Given the description of an element on the screen output the (x, y) to click on. 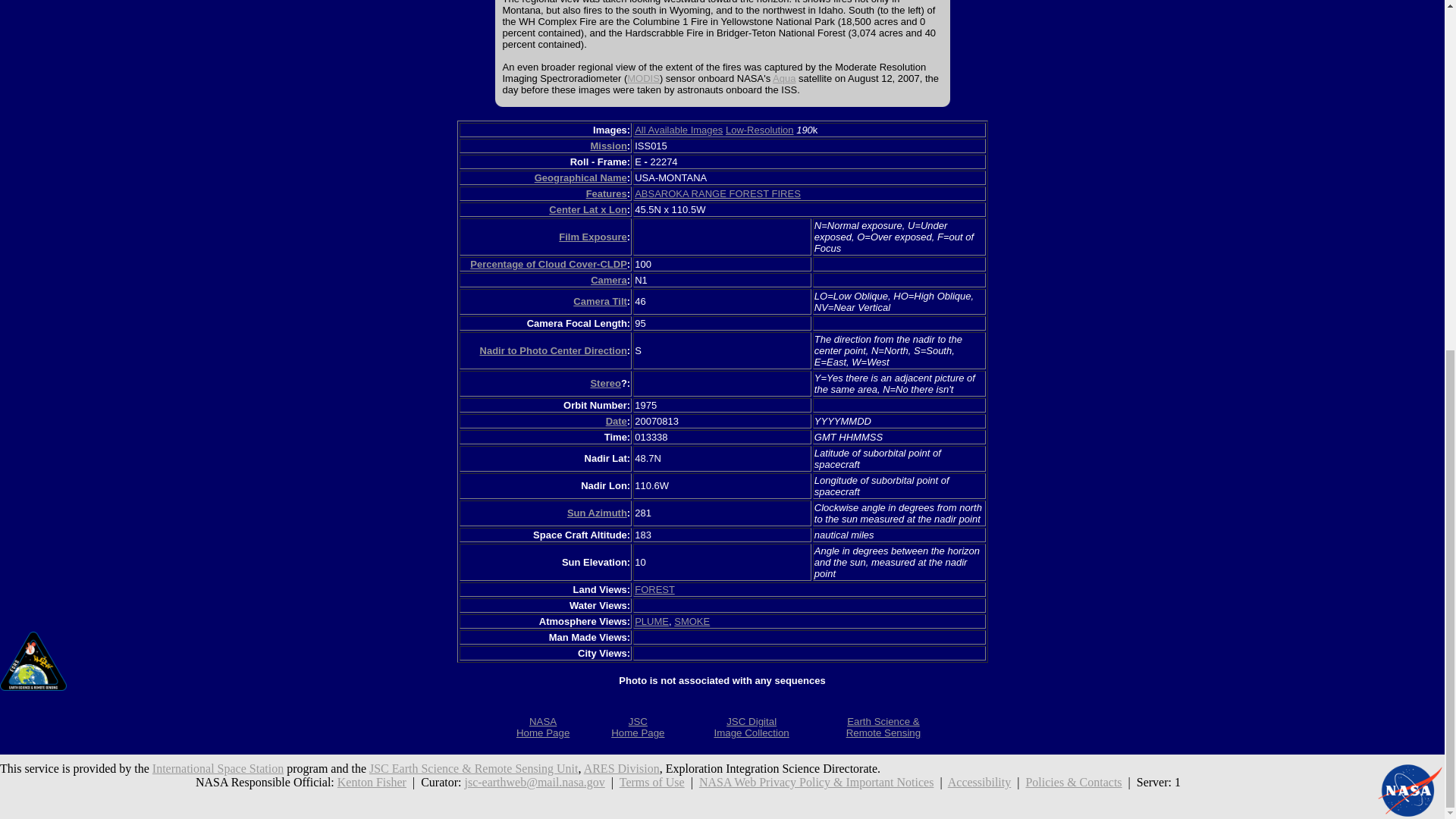
ARES Division (637, 726)
Aqua (621, 768)
Center Lat x Lon (783, 78)
Camera Tilt (587, 209)
Kenton Fisher (600, 301)
Camera (542, 726)
Film Exposure (371, 781)
PLUME (609, 279)
Nadir to Photo Center Direction (593, 236)
Geographical Name (651, 621)
International Space Station (553, 350)
FOREST (580, 177)
Features (217, 768)
